Given the description of an element on the screen output the (x, y) to click on. 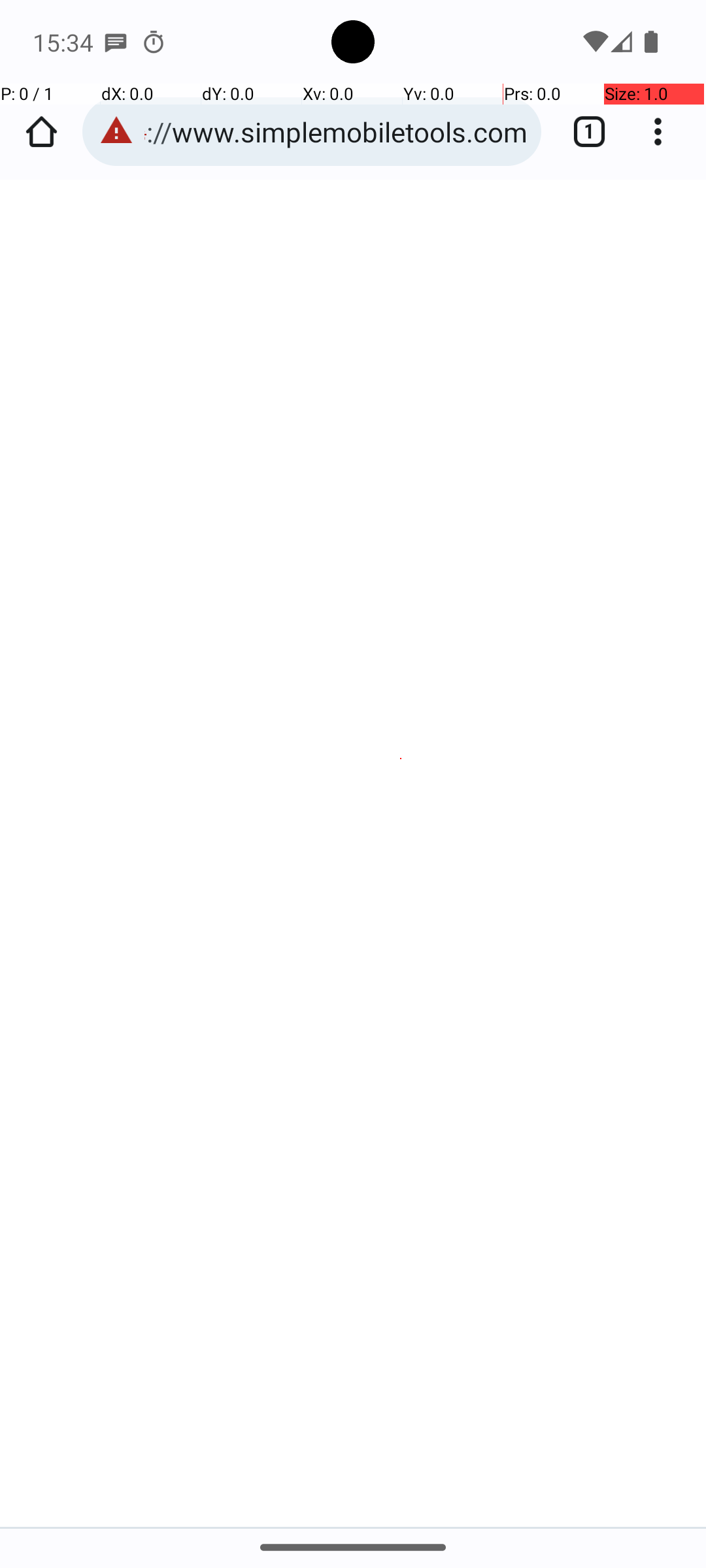
https://www.simplemobiletools.com/donate#paypal Element type: android.widget.EditText (335, 131)
www.simplemobiletools.com Element type: android.widget.TextView (200, 653)
